Given the description of an element on the screen output the (x, y) to click on. 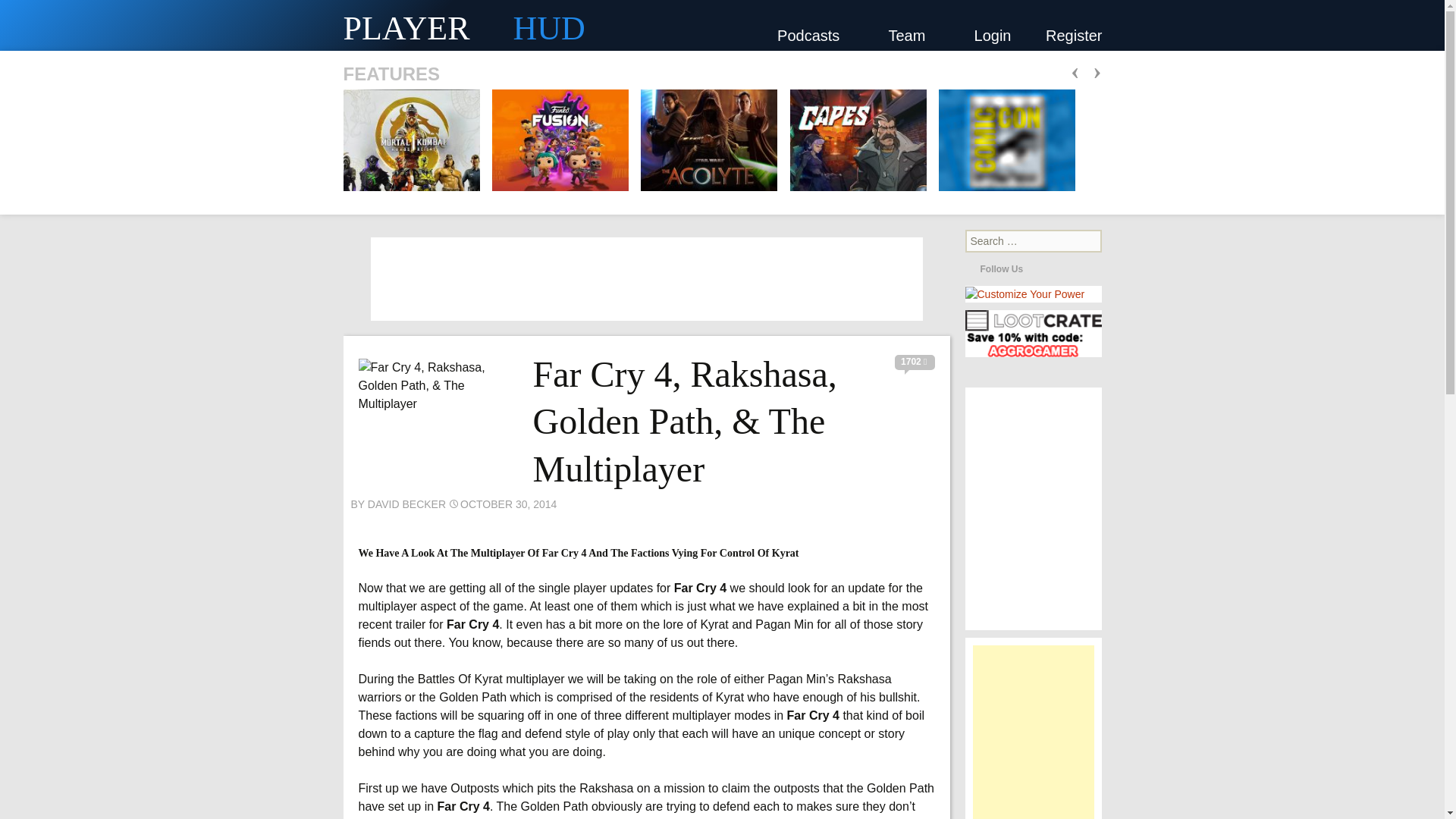
Login (992, 35)
Login (992, 35)
Register (1073, 35)
Register (1073, 35)
Podcasts (815, 35)
Player HUD (227, 25)
Team (912, 35)
